Given the description of an element on the screen output the (x, y) to click on. 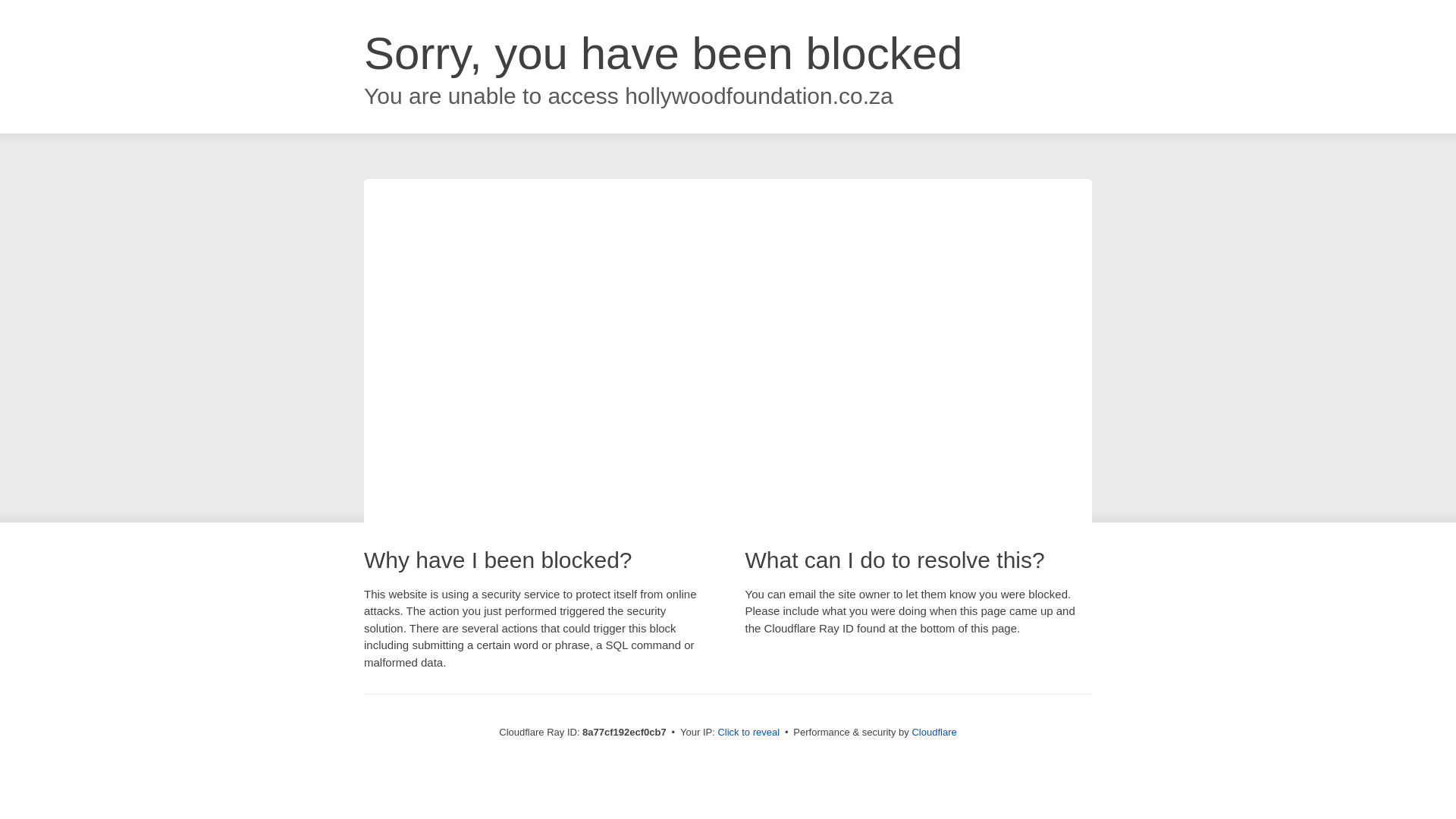
Click to reveal (747, 732)
Cloudflare (933, 731)
